Given the description of an element on the screen output the (x, y) to click on. 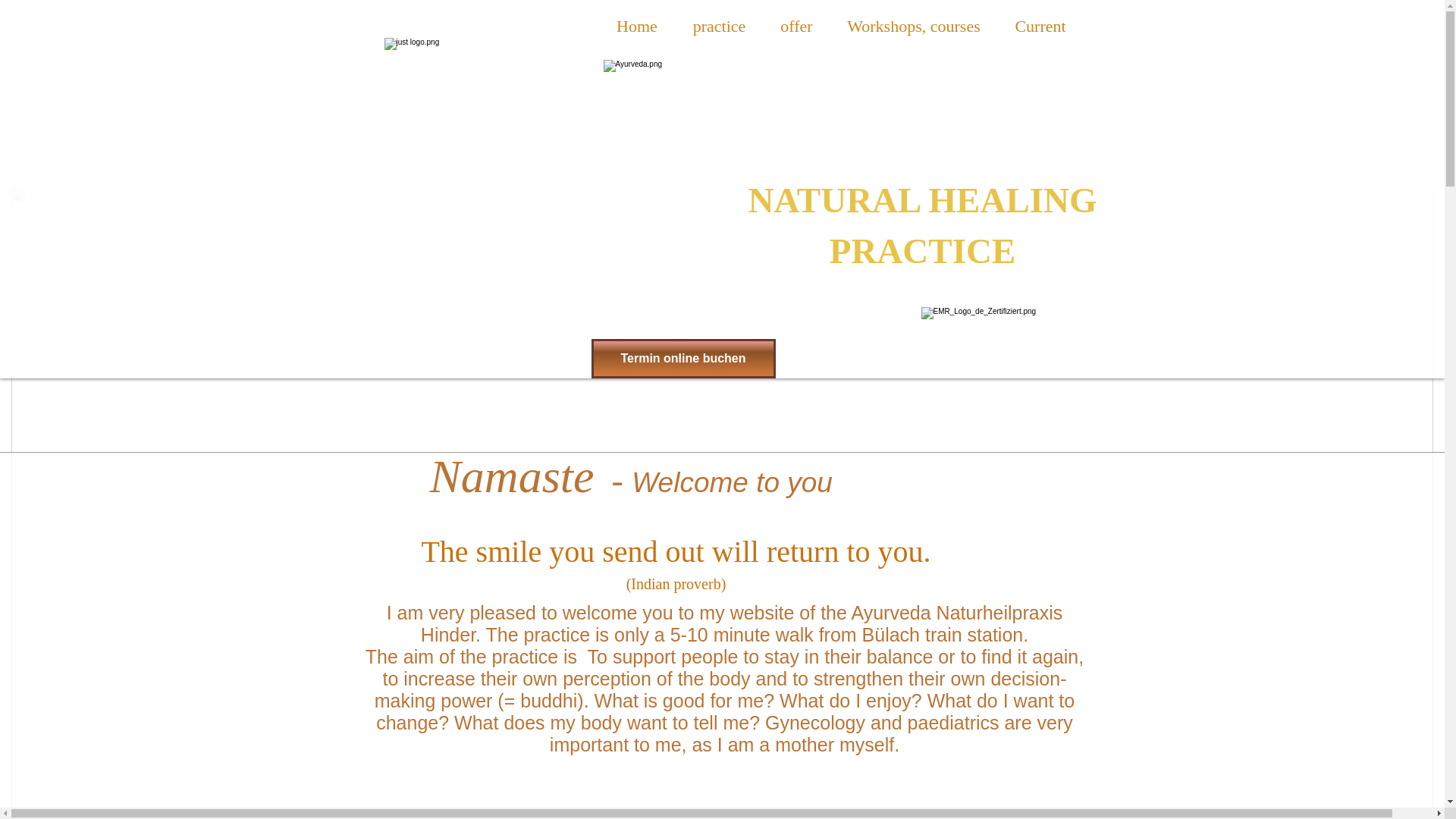
Home Element type: text (637, 25)
NATURAL HEALING PRACTICE Element type: text (921, 224)
Current Element type: text (1040, 25)
Termin online buchen Element type: text (683, 358)
